Given the description of an element on the screen output the (x, y) to click on. 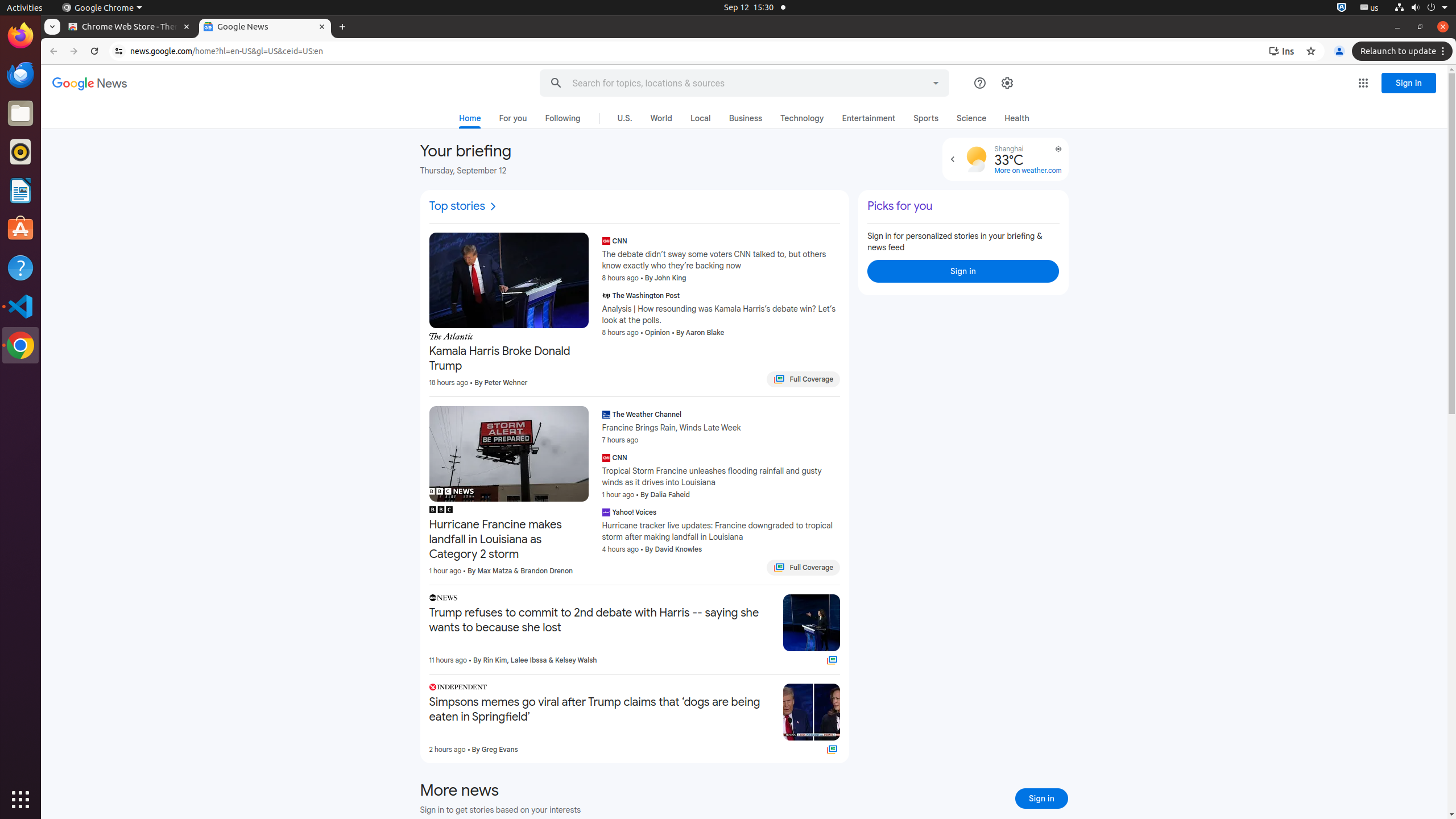
Home Element type: menu-item (469, 120)
Expand to view forecast Element type: push-button (952, 159)
Francine Brings Rain, Winds Late Week Element type: link (720, 427)
More - Francine Brings Rain, Winds Late Week Element type: push-button (836, 415)
Analysis | How resounding was Kamala Harris’s debate win? Let’s look at the polls. Element type: link (720, 314)
